Given the description of an element on the screen output the (x, y) to click on. 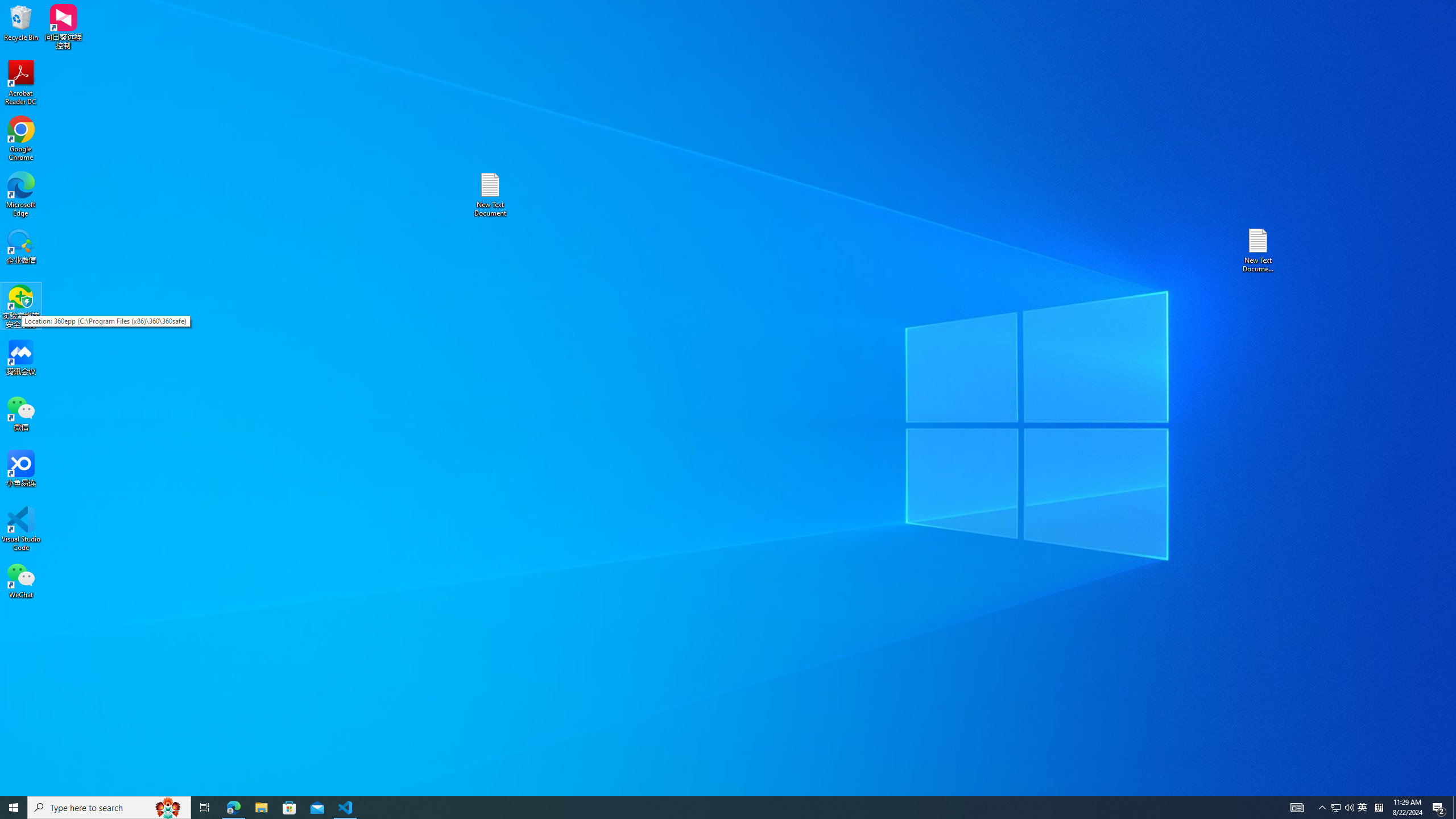
Task View (204, 807)
